Given the description of an element on the screen output the (x, y) to click on. 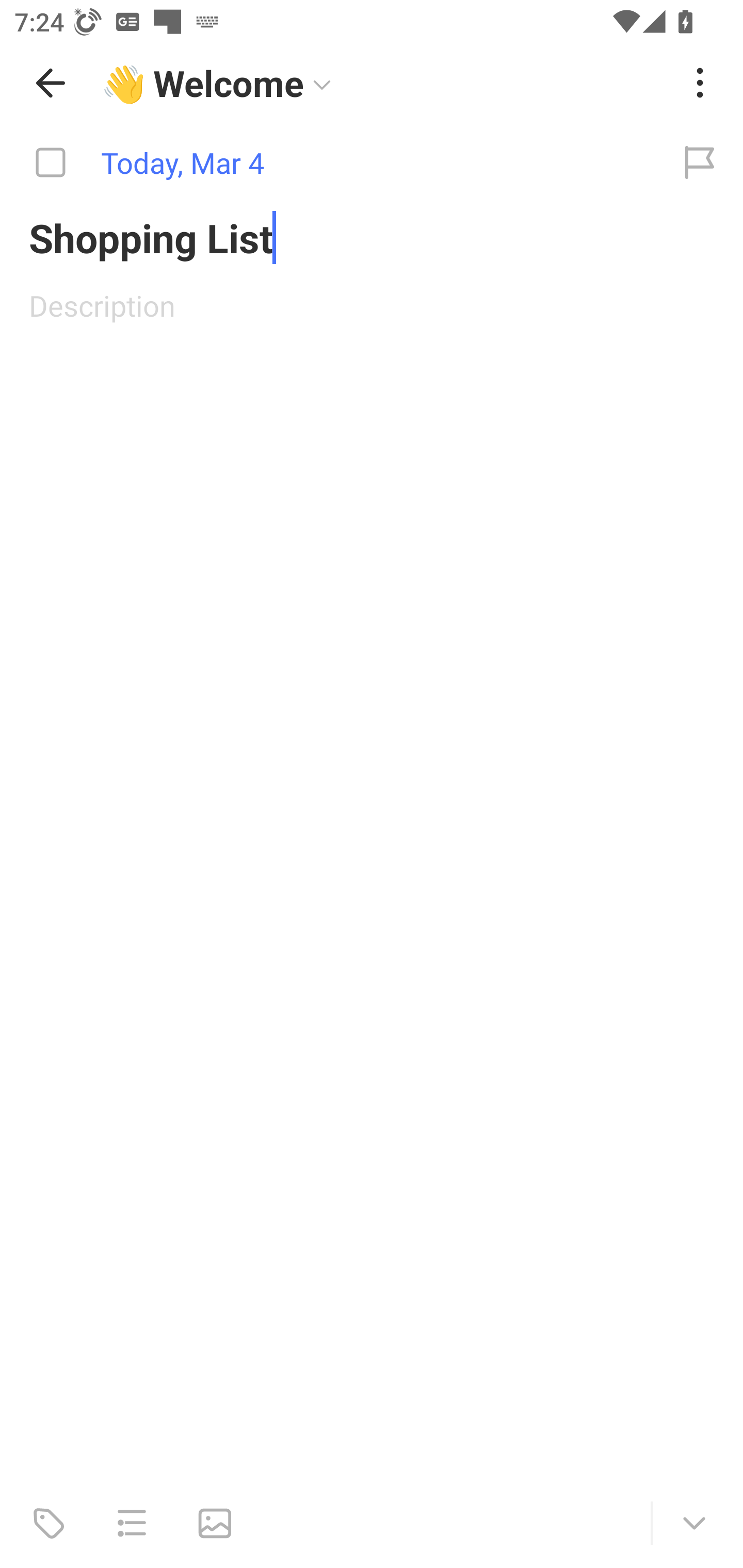
👋 Welcome (384, 82)
Today, Mar 4  (328, 163)
Shopping List (371, 237)
Description (371, 304)
